Given the description of an element on the screen output the (x, y) to click on. 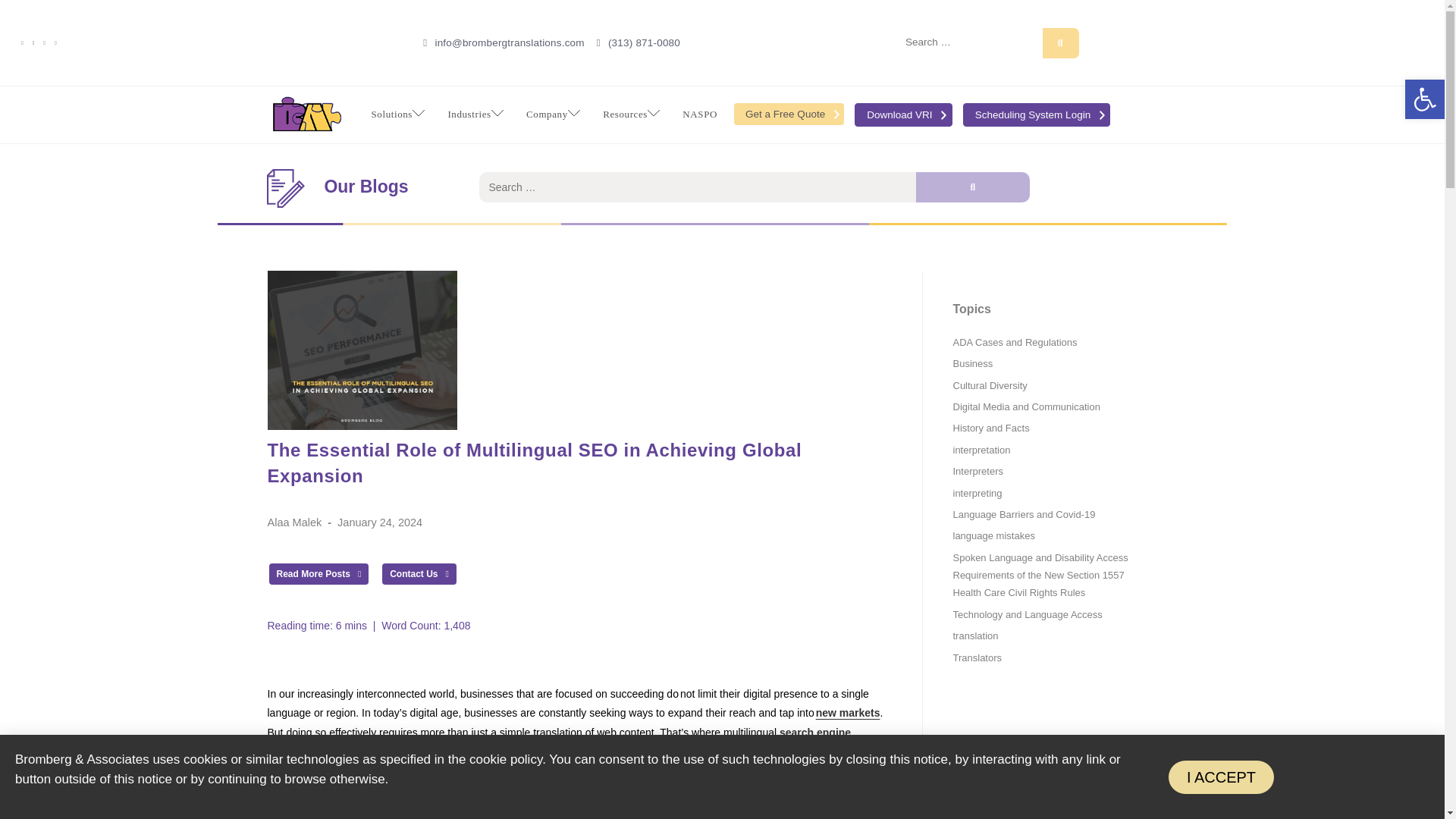
Accessibility Tools (1424, 98)
Solutions (397, 114)
Search (1060, 42)
Posts by Alaa Malek (293, 522)
